Given the description of an element on the screen output the (x, y) to click on. 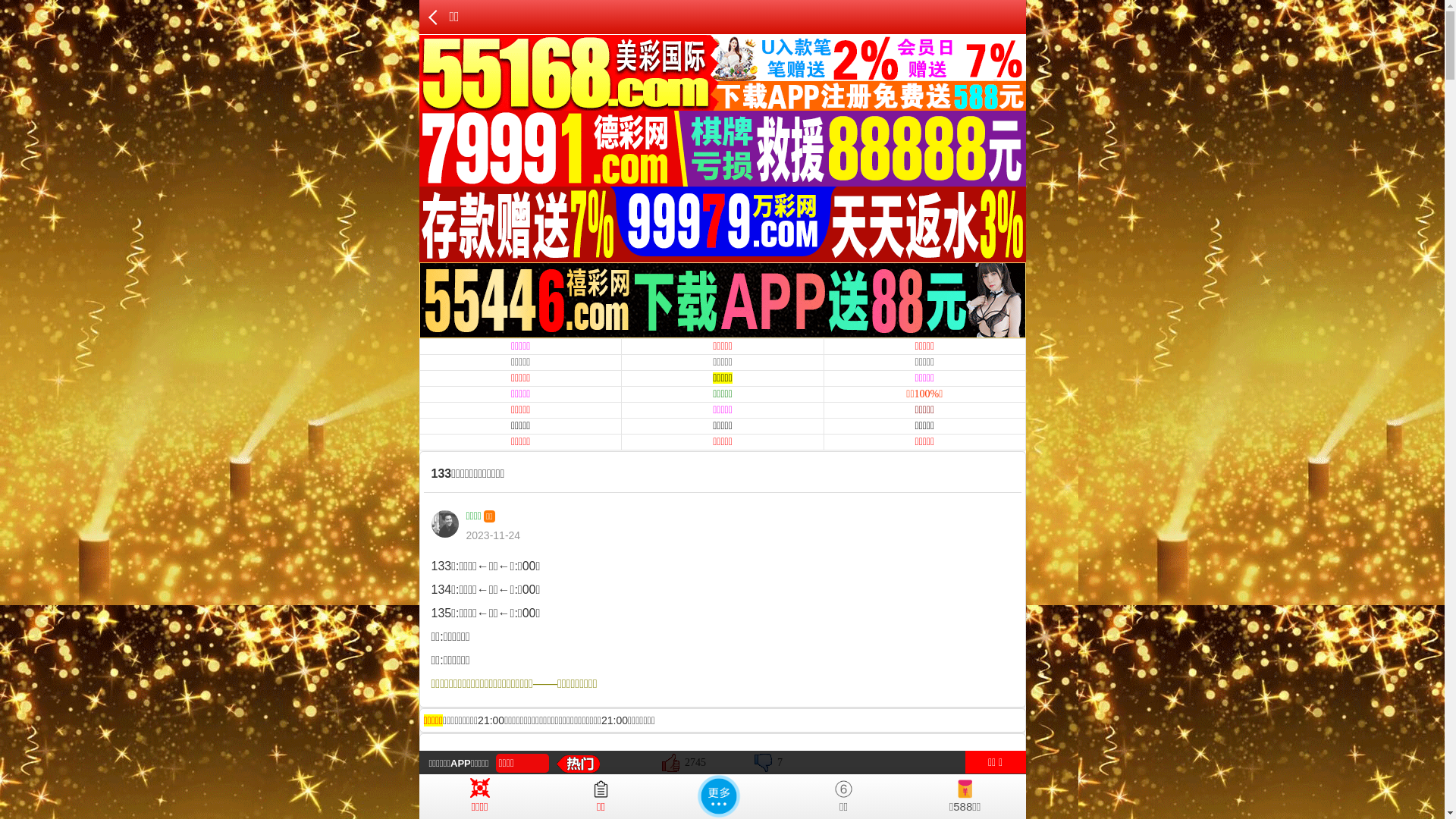
2745 Element type: text (684, 762)
7 Element type: text (768, 762)
